Given the description of an element on the screen output the (x, y) to click on. 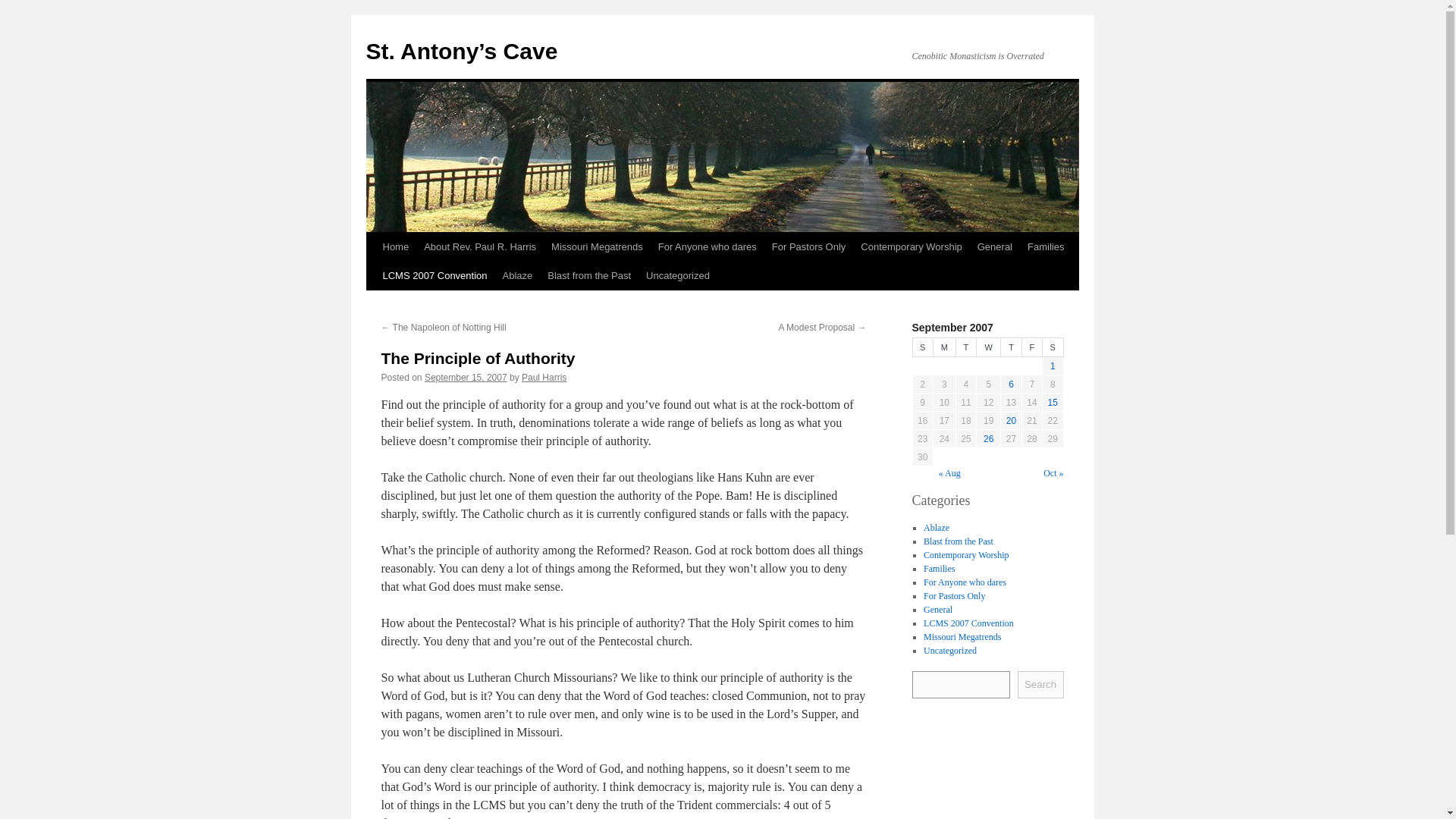
Paul Harris (543, 377)
For Anyone who dares (964, 581)
Friday (1032, 347)
1:13 pm (465, 377)
General (937, 608)
September 15, 2007 (465, 377)
For Pastors Only (808, 246)
LCMS 2007 Convention (434, 275)
Families (939, 567)
Tuesday (965, 347)
